Given the description of an element on the screen output the (x, y) to click on. 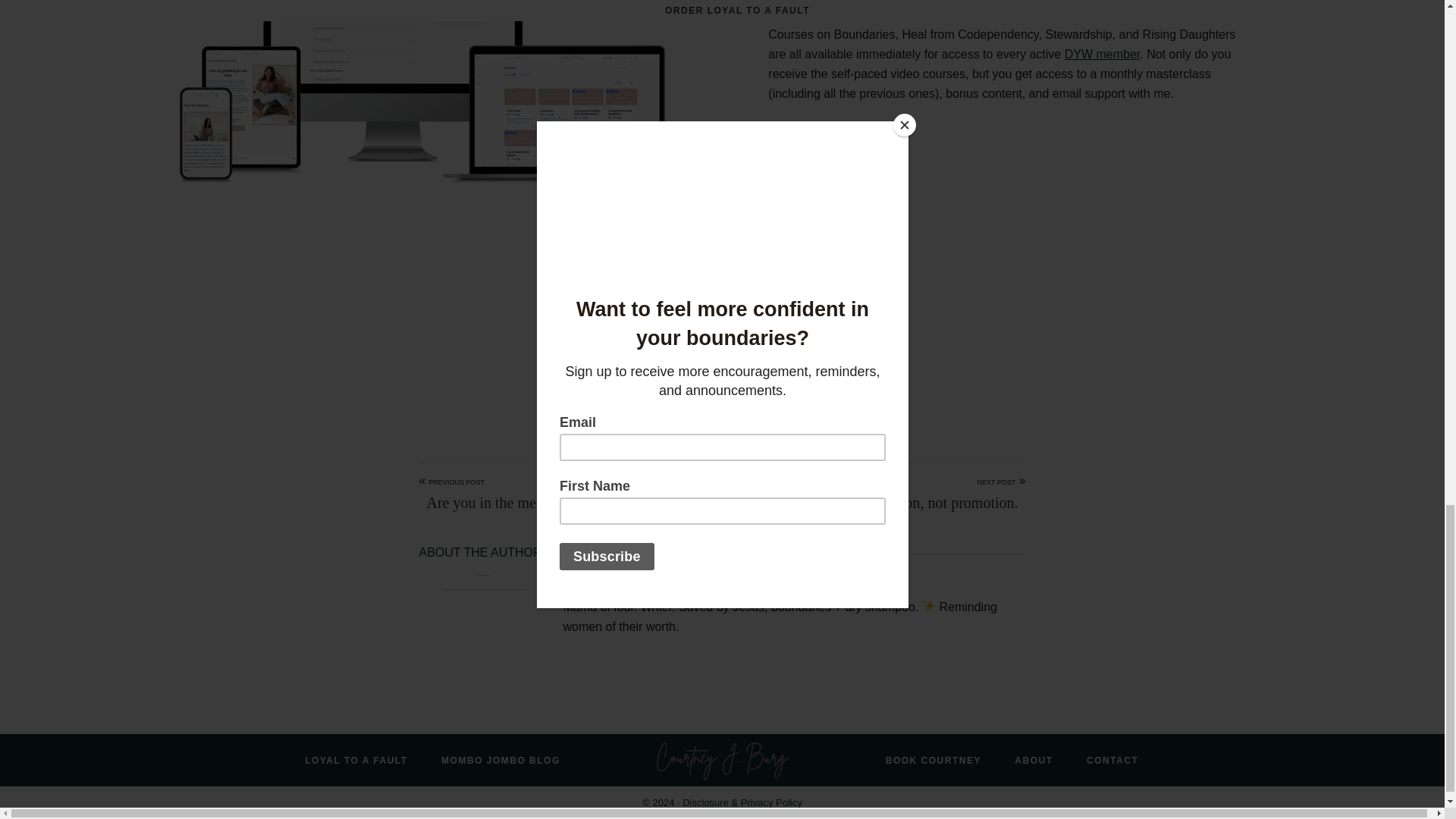
DYW member (1102, 53)
Join us today (754, 242)
Threads (737, 390)
Facebook (706, 390)
Pinterest (676, 390)
Threads (737, 390)
Facebook (706, 390)
Pinterest (676, 390)
Join Today (721, 318)
